Given the description of an element on the screen output the (x, y) to click on. 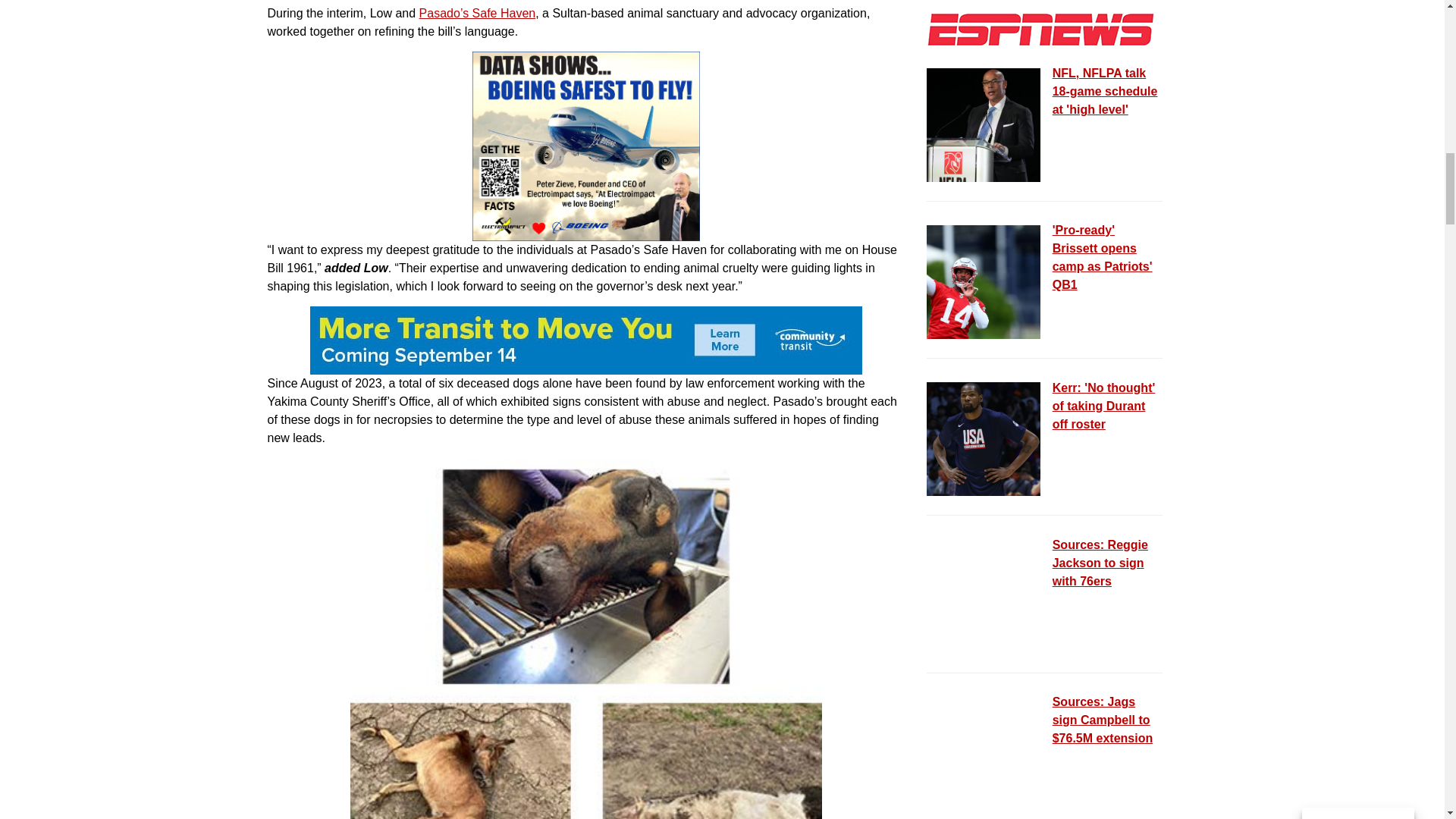
'Pro-ready' Brissett opens camp as Patriots' QB1 (983, 282)
NFL, NFLPA talk 18-game schedule at 'high level' (983, 124)
Kerr: 'No thought' of taking Durant off roster (983, 439)
